Given the description of an element on the screen output the (x, y) to click on. 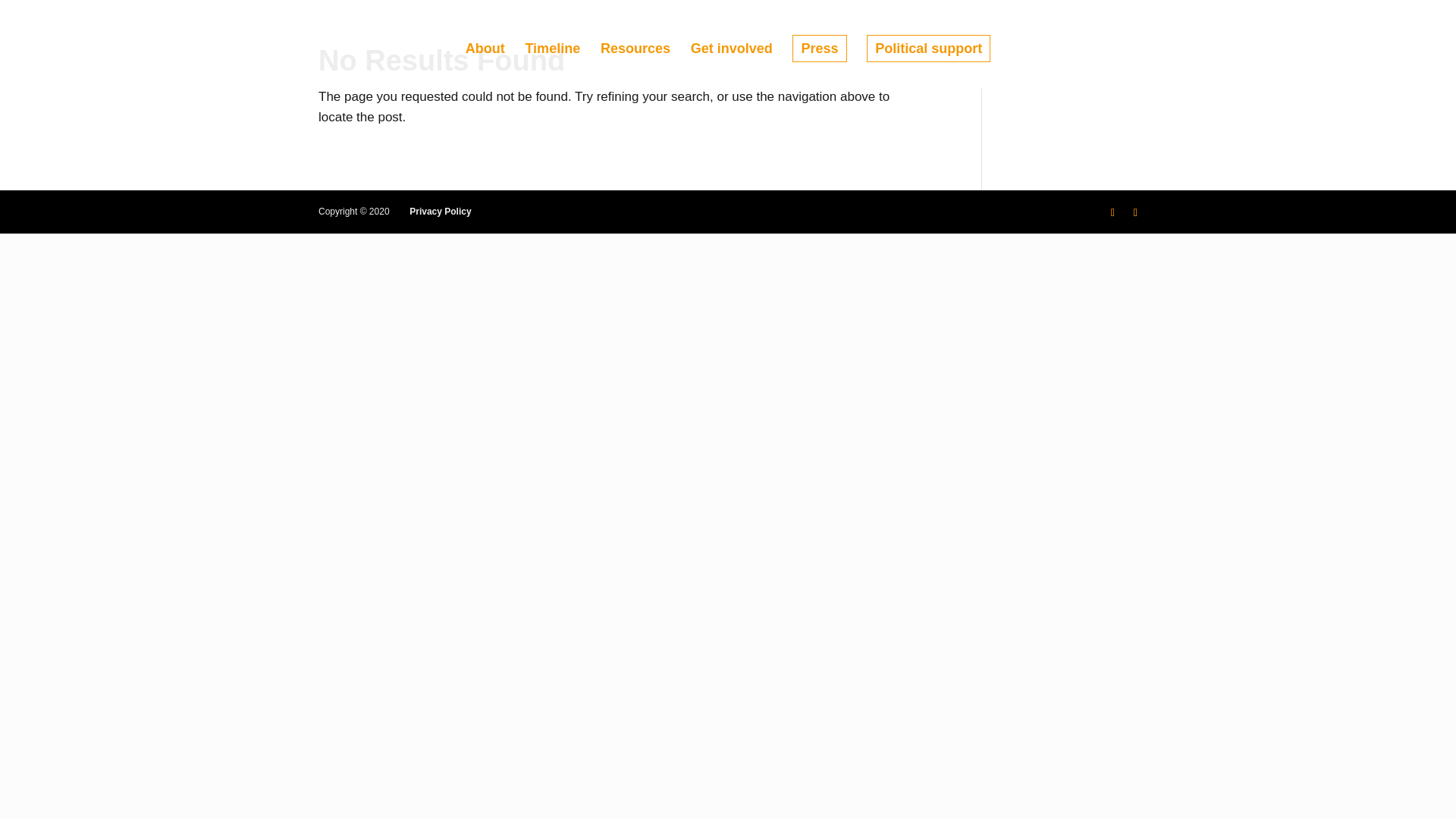
Press (818, 48)
Privacy Policy (439, 211)
Timeline (551, 65)
Resources (634, 65)
Get involved (731, 65)
Political support (928, 48)
